Given the description of an element on the screen output the (x, y) to click on. 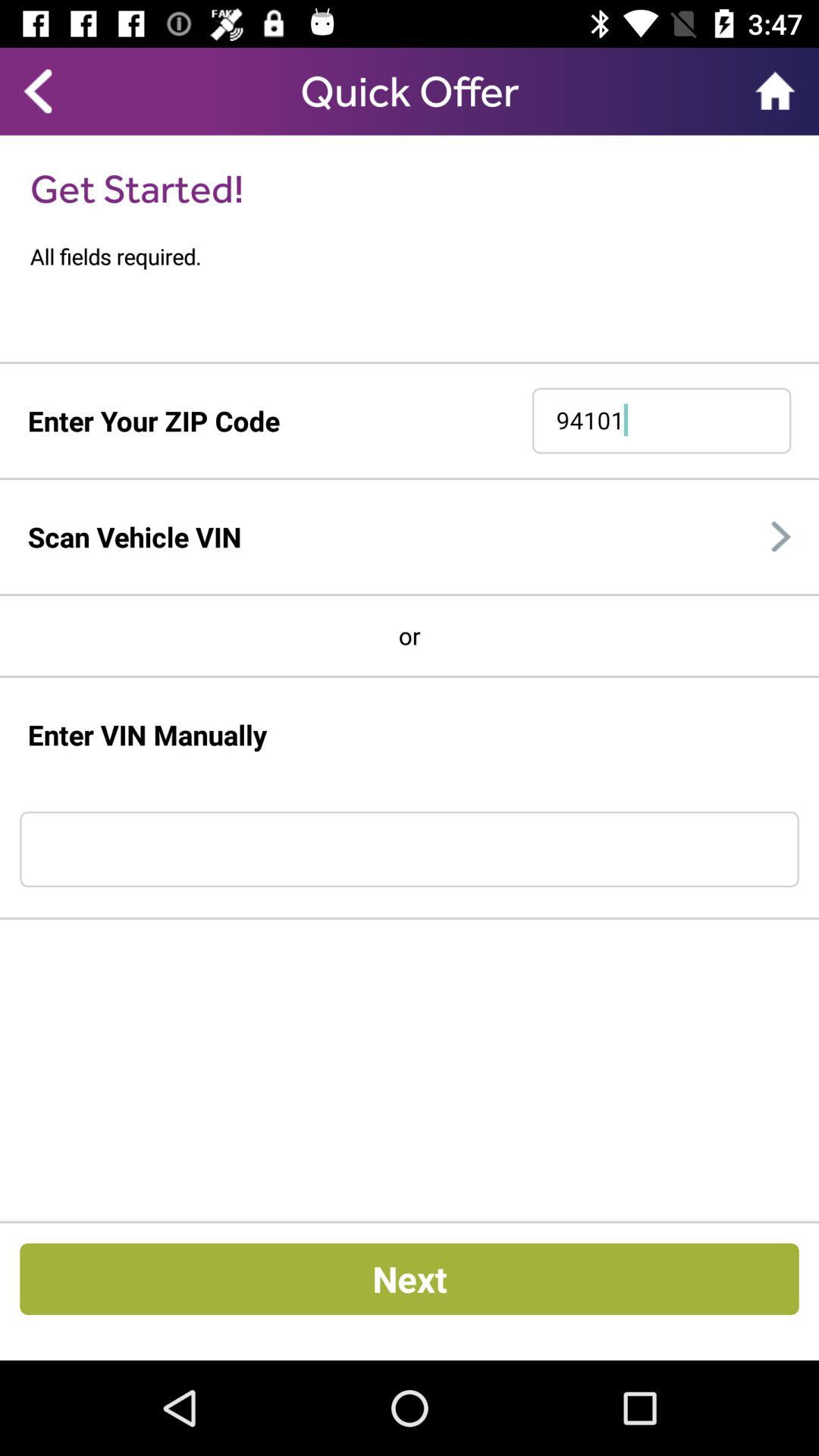
press icon below scan vehicle vin item (409, 594)
